Given the description of an element on the screen output the (x, y) to click on. 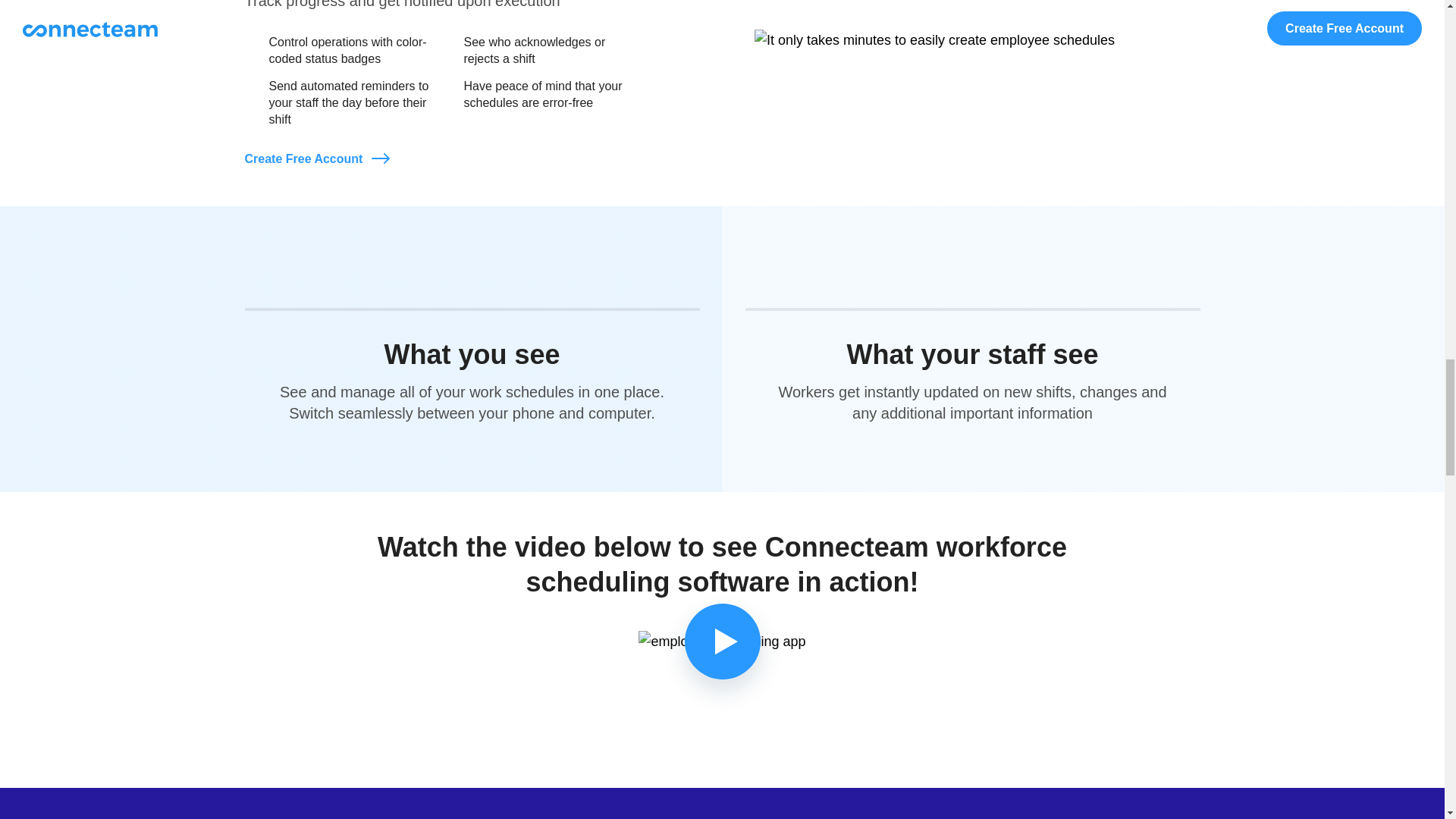
Create Free Account (316, 158)
